Given the description of an element on the screen output the (x, y) to click on. 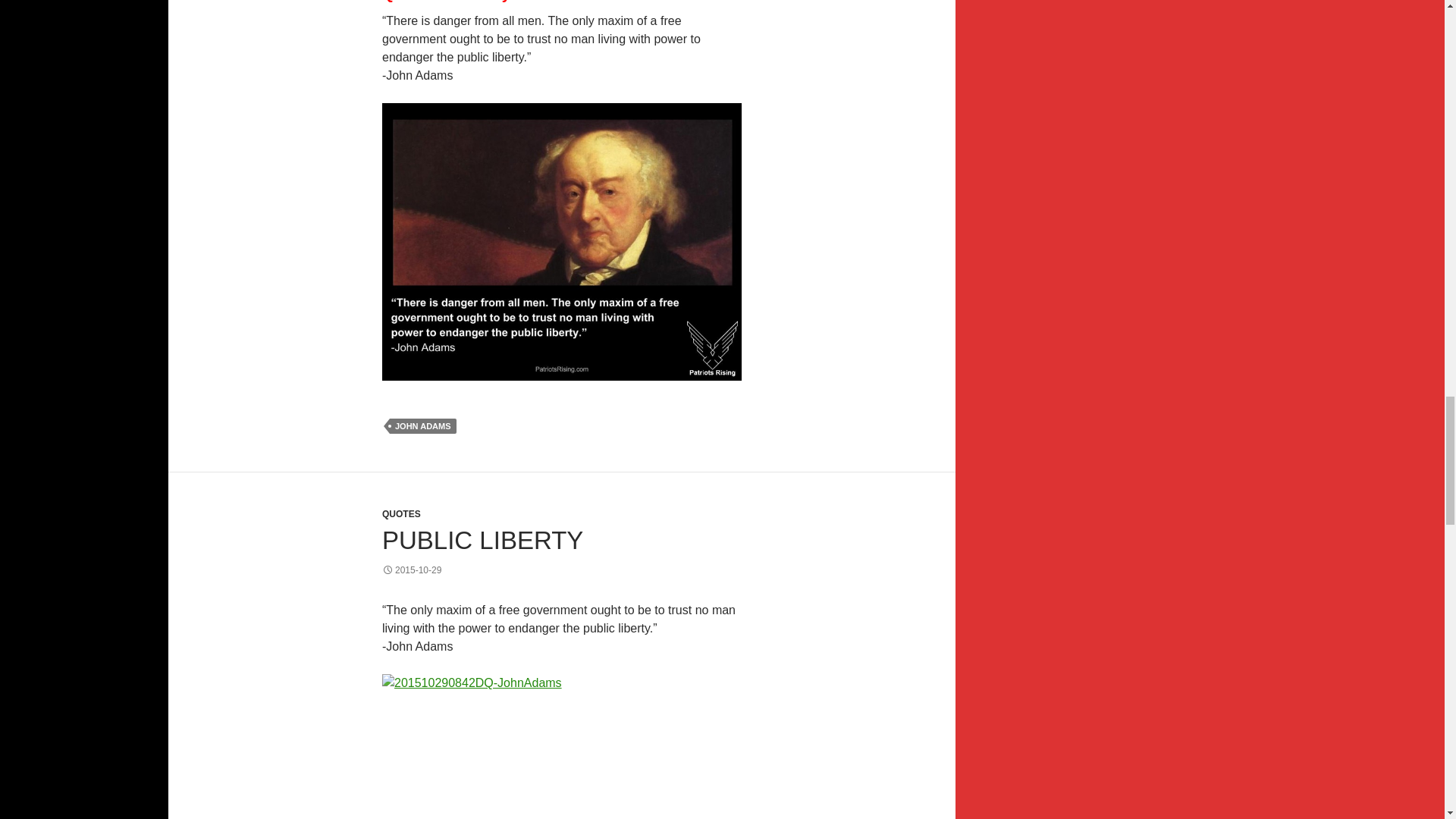
JOHN ADAMS (423, 426)
PUBLIC LIBERTY (482, 540)
QUOTES (400, 513)
